Given the description of an element on the screen output the (x, y) to click on. 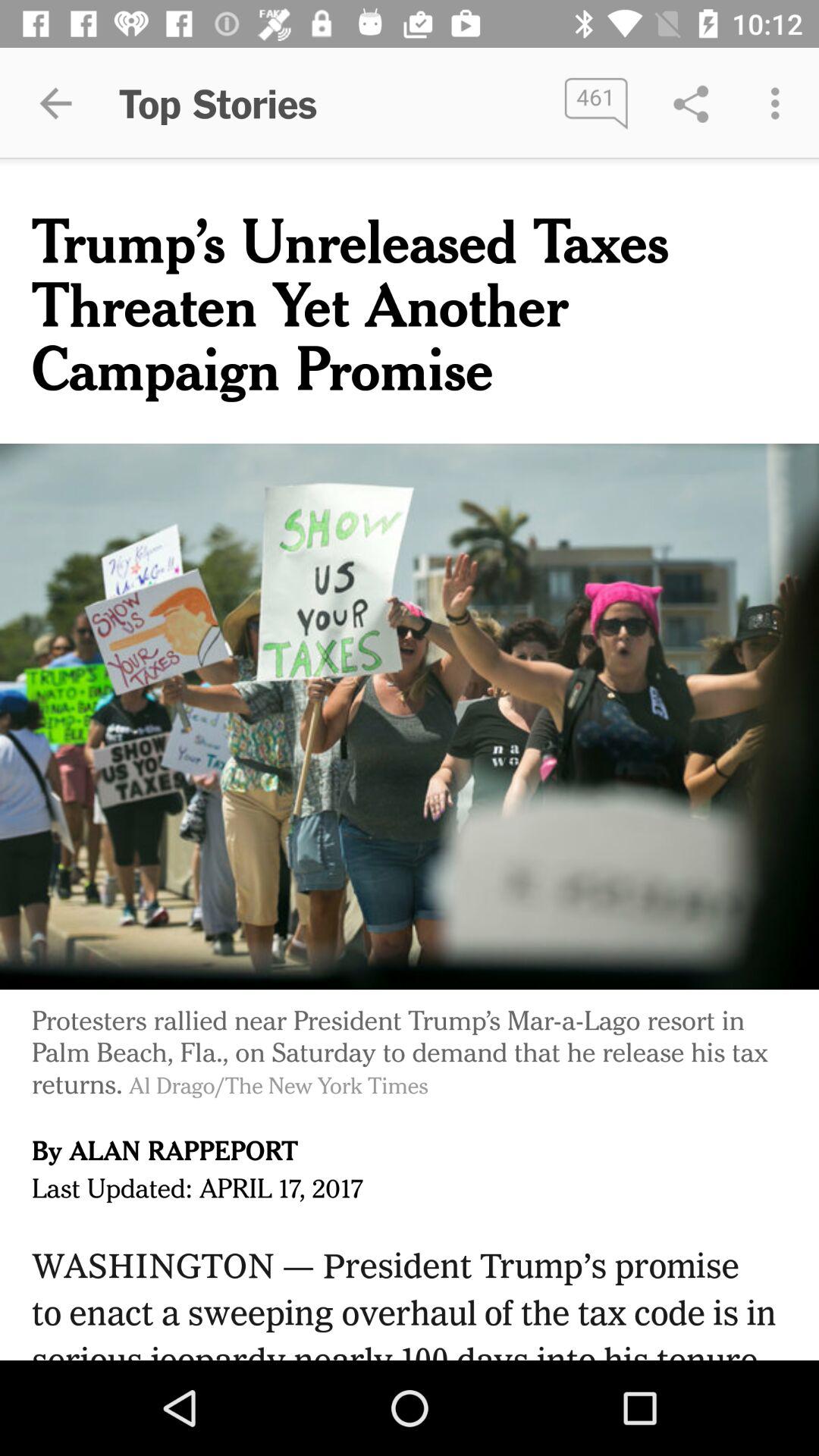
click item to the left of the top stories app (55, 103)
